Given the description of an element on the screen output the (x, y) to click on. 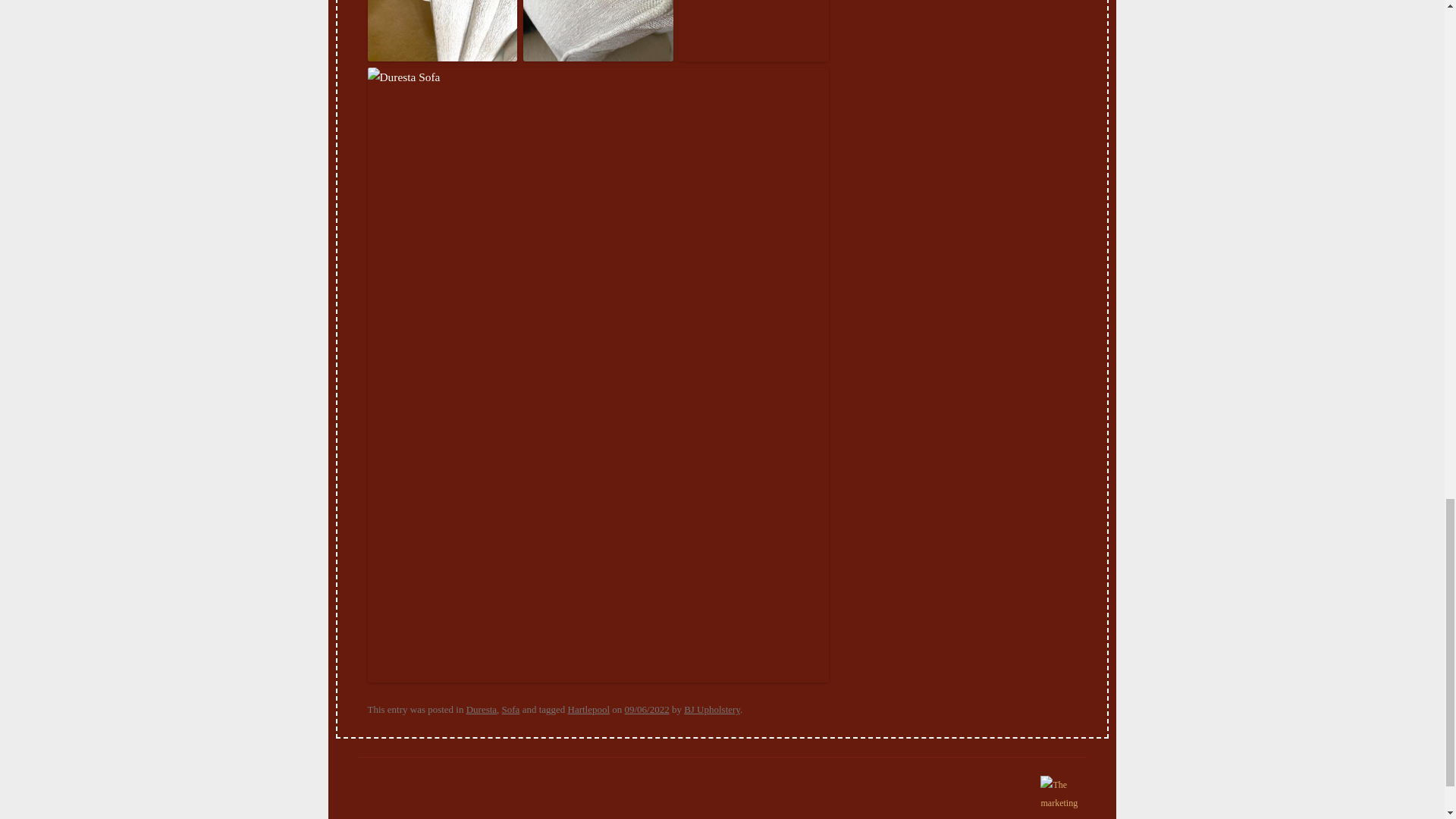
Hartlepool (588, 708)
View all posts by BJ Upholstery (711, 708)
9:40 am (646, 708)
Duresta (480, 708)
Sofa (510, 708)
BJ Upholstery (711, 708)
